Given the description of an element on the screen output the (x, y) to click on. 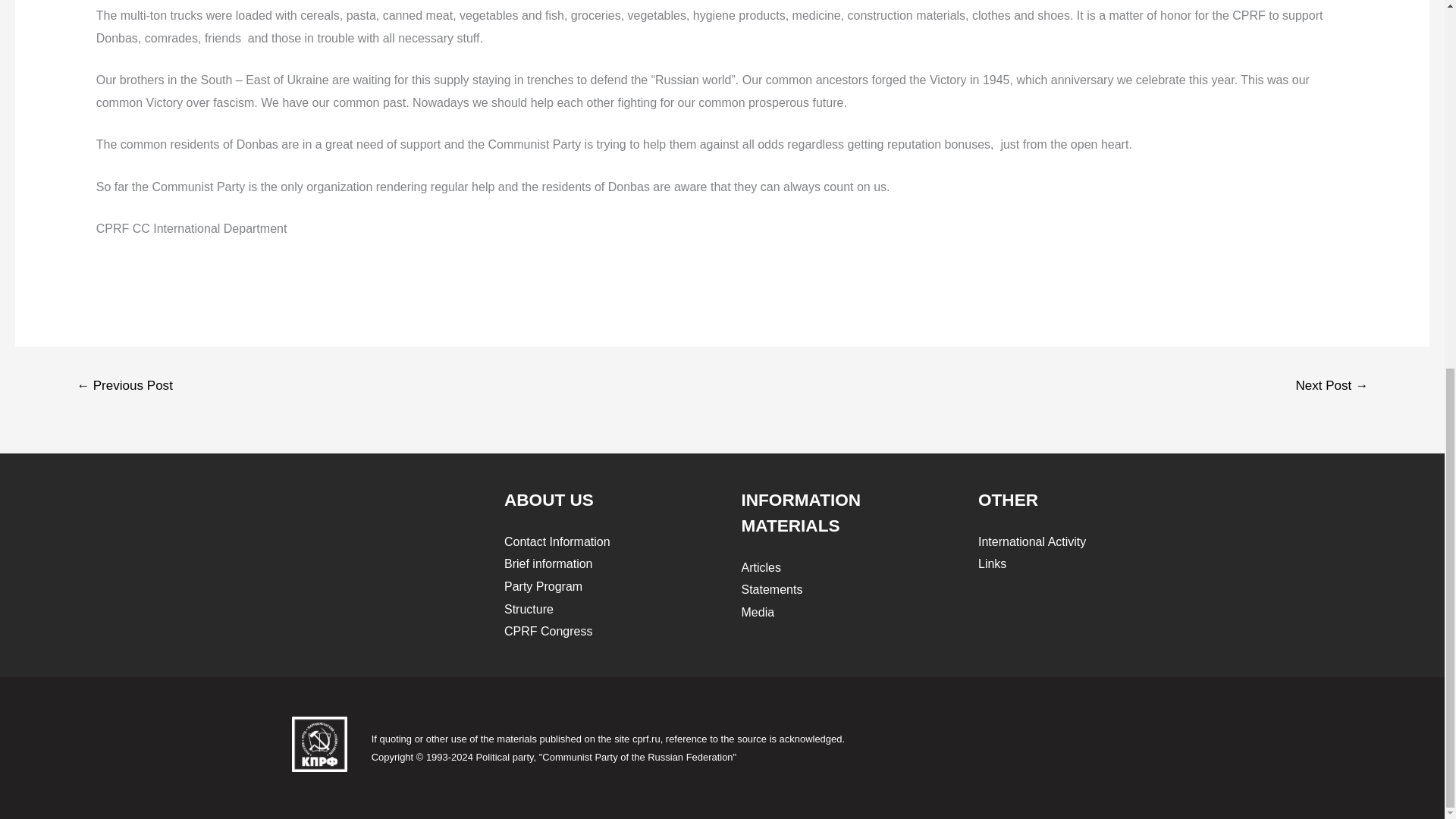
Brief information (547, 563)
Party Program (542, 585)
CPRF Congress (547, 631)
Contact Information (556, 541)
Structure (528, 608)
